Given the description of an element on the screen output the (x, y) to click on. 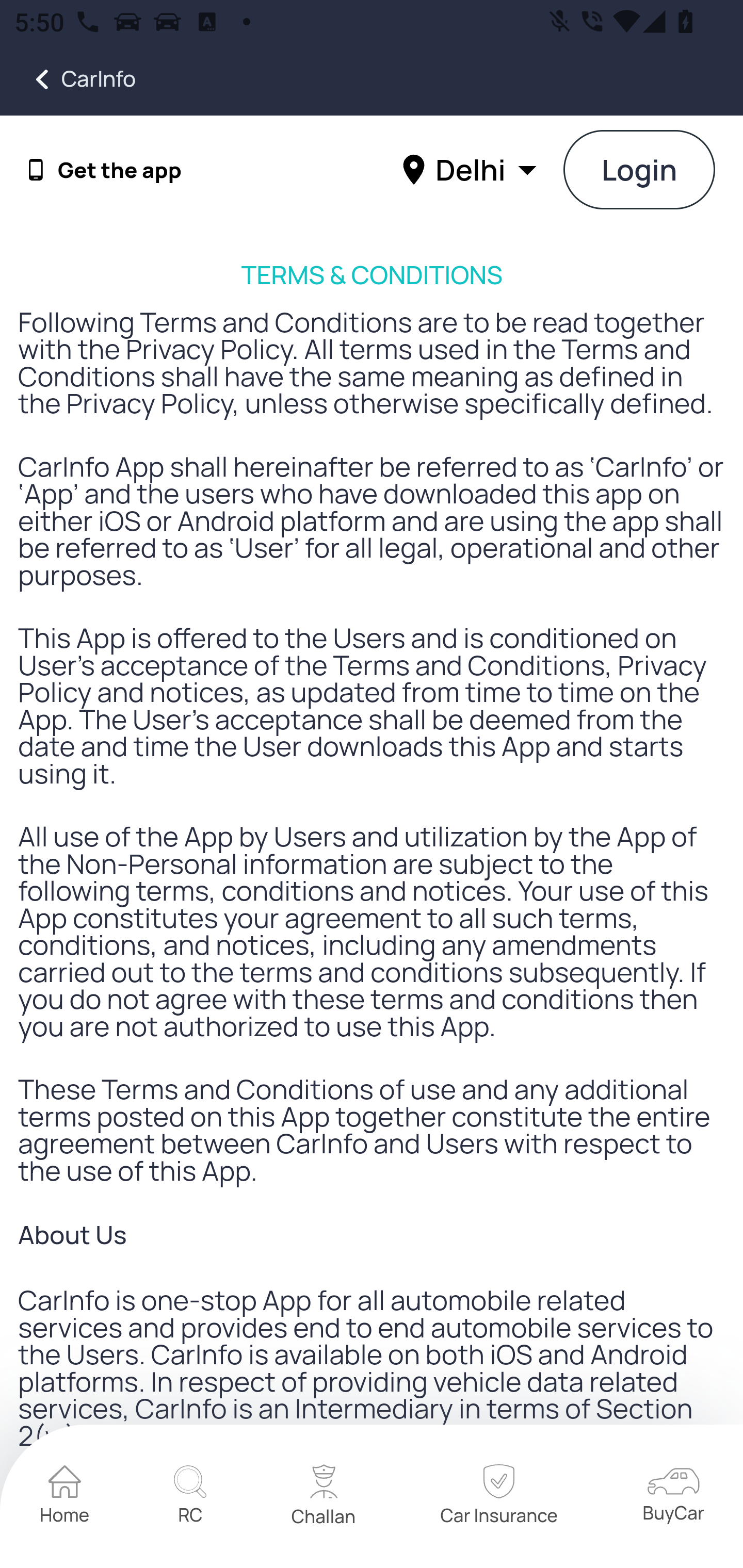
CarInfo (67, 79)
Login (639, 170)
Delhi (471, 169)
Get the app (119, 170)
home Challan home Challan (323, 1496)
home Home home Home (64, 1496)
home RC home RC (190, 1496)
home Car Insurance home Car Insurance (497, 1497)
home BuyCar home BuyCar (672, 1496)
